Given the description of an element on the screen output the (x, y) to click on. 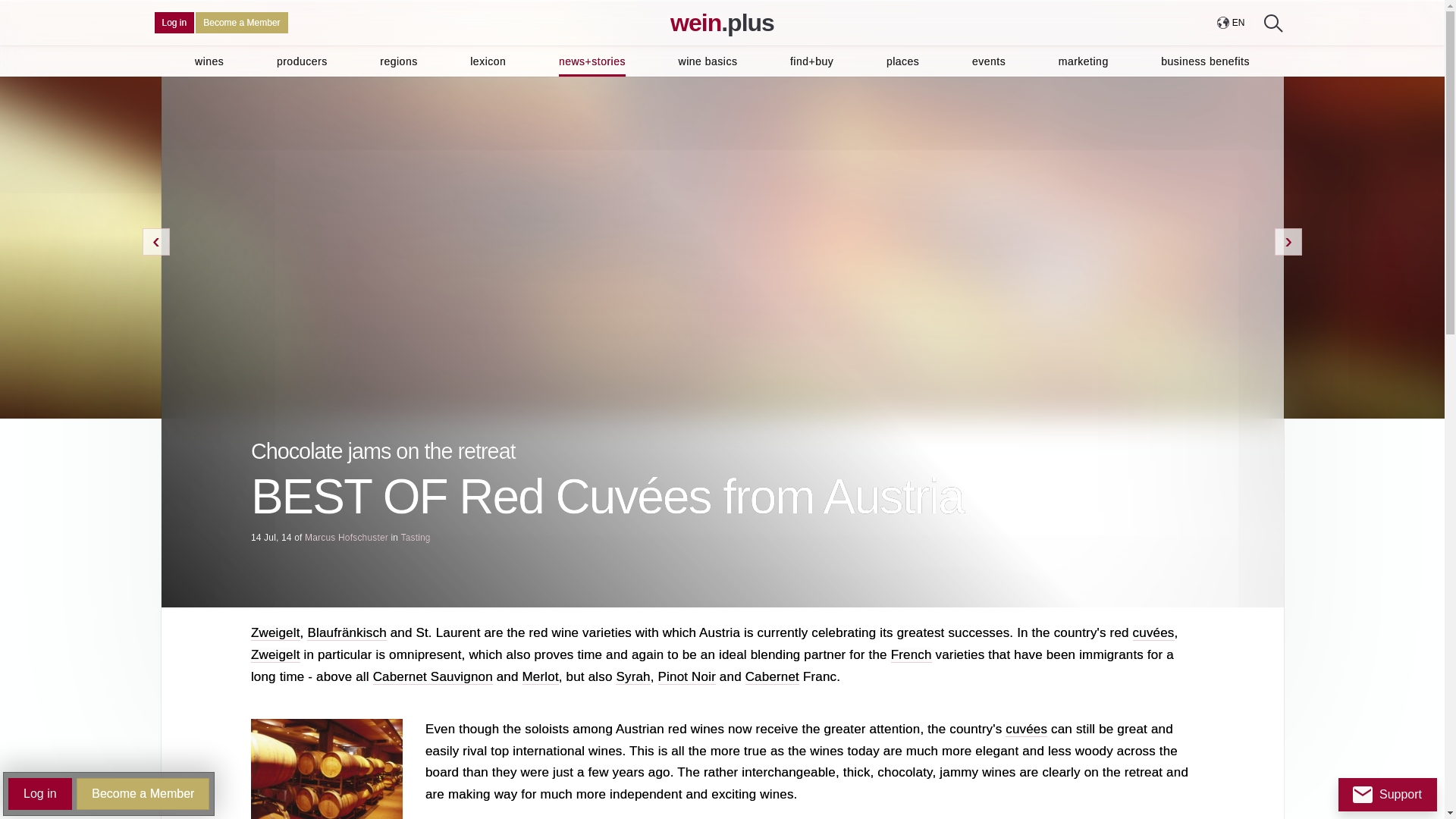
business benefits (1204, 60)
marketing (1083, 60)
Benefits (240, 22)
EN (1230, 22)
English Language (1237, 22)
country: Other (1222, 22)
lexicon (487, 60)
wein.plus (721, 22)
Log in (174, 22)
producers (301, 60)
regions (398, 60)
wines (209, 60)
Become a Member (240, 22)
wine basics (708, 60)
Log in (174, 22)
